Given the description of an element on the screen output the (x, y) to click on. 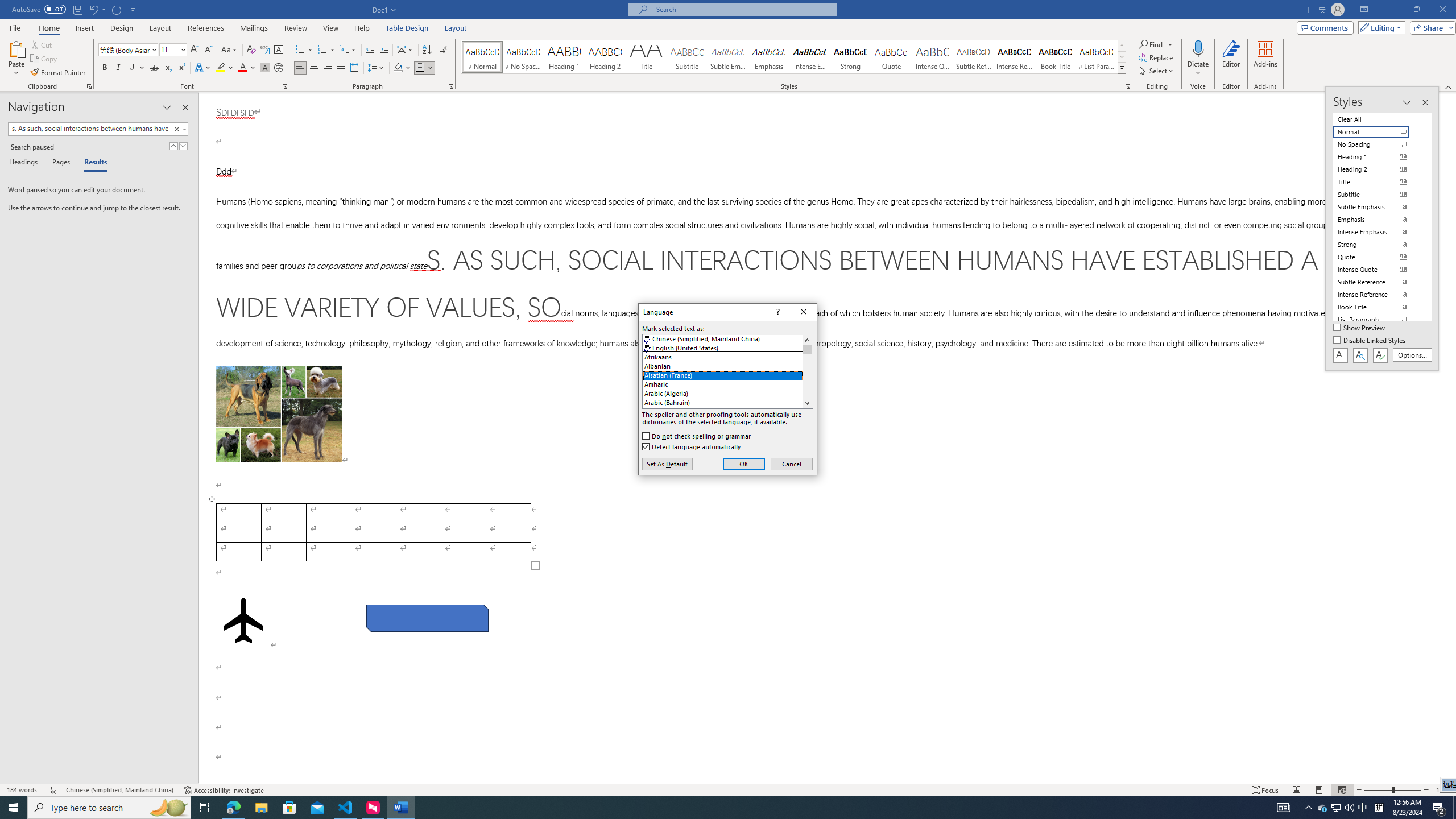
Repeat Style (117, 9)
Bullets (304, 49)
Rectangle: Diagonal Corners Snipped 2 (427, 618)
Class: NetUIScrollBar (1450, 437)
Close pane (185, 107)
OK (743, 463)
Align Right (327, 67)
Distributed (354, 67)
Help (361, 28)
Grow Font (193, 49)
Quick Access Toolbar (74, 9)
Show Preview (1360, 328)
Running applications (700, 807)
Paste (16, 58)
Cut (42, 44)
